Given the description of an element on the screen output the (x, y) to click on. 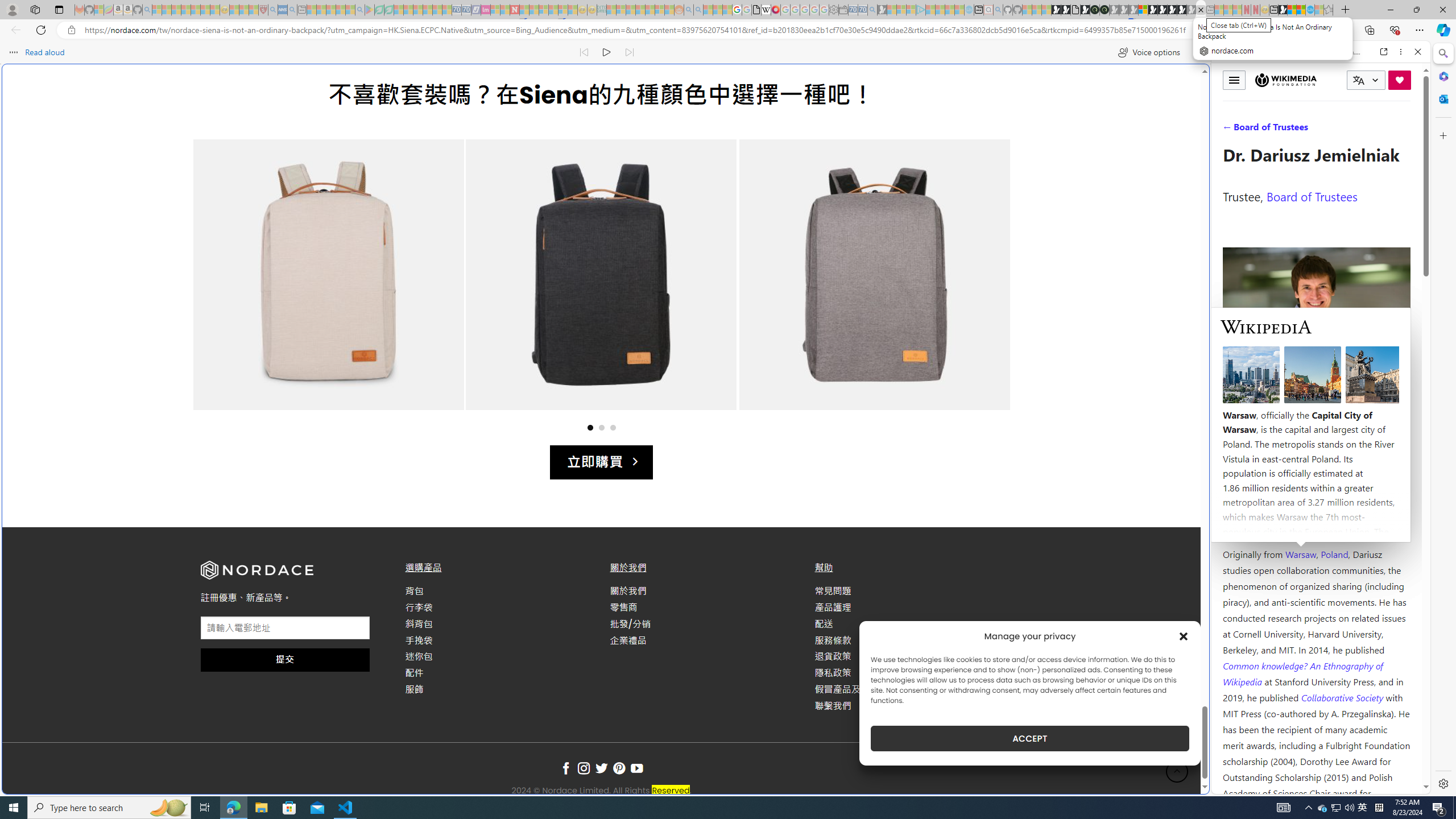
Play Zoo Boom in your browser | Games from Microsoft Start (1065, 9)
This site has coupons! Shopping in Microsoft Edge (1243, 29)
Poland (1334, 554)
